Given the description of an element on the screen output the (x, y) to click on. 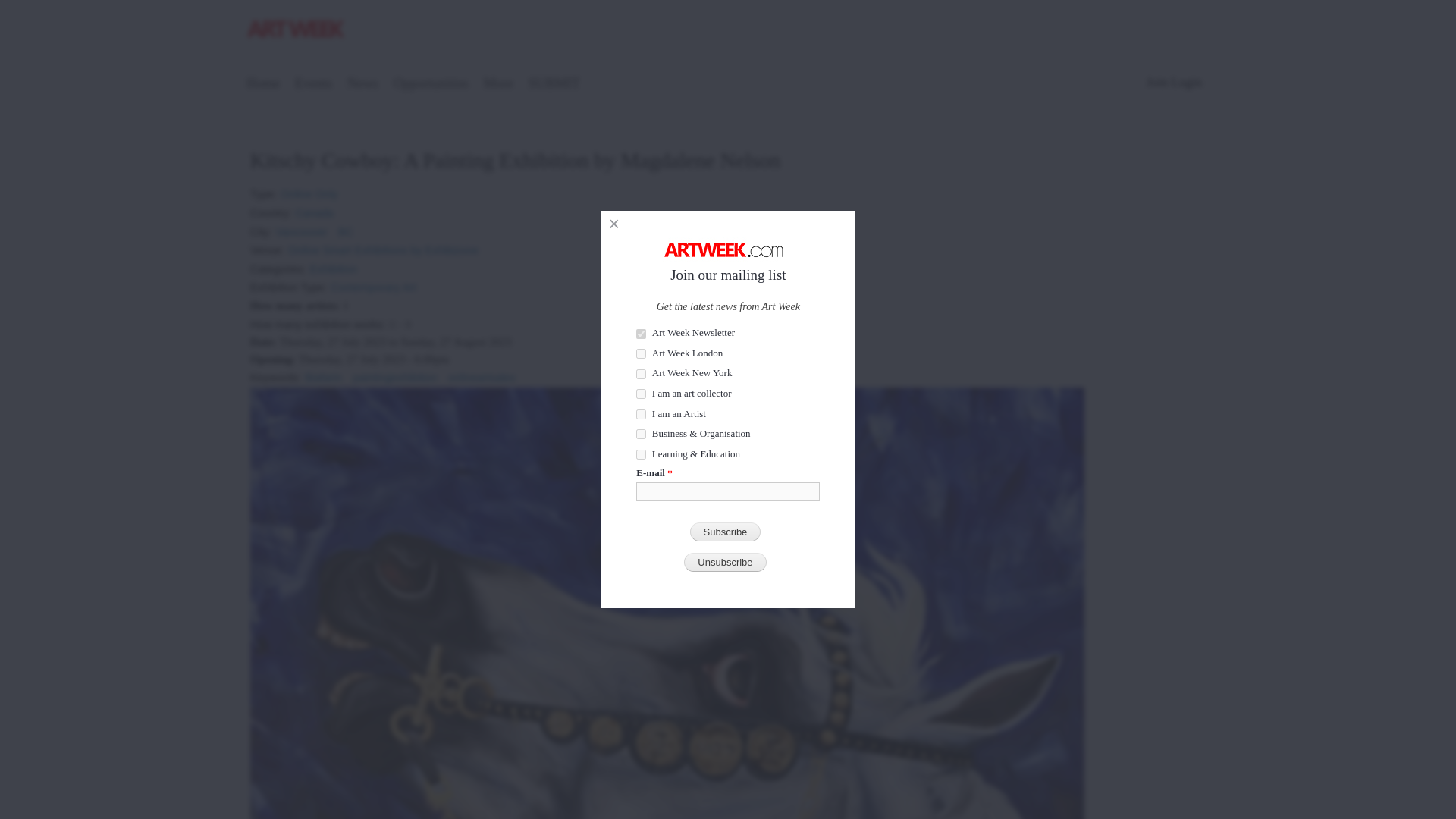
30824 (641, 374)
Join (1157, 82)
Home (297, 31)
Biafarin (323, 372)
Art news (362, 84)
Opportunities (430, 84)
paintingexhibition (394, 372)
17672 (641, 393)
Events (313, 84)
Unsubscribe (724, 561)
30823 (641, 353)
Canada (314, 207)
onlineartsales (481, 372)
Vancouver (301, 226)
11700 (641, 454)
